Given the description of an element on the screen output the (x, y) to click on. 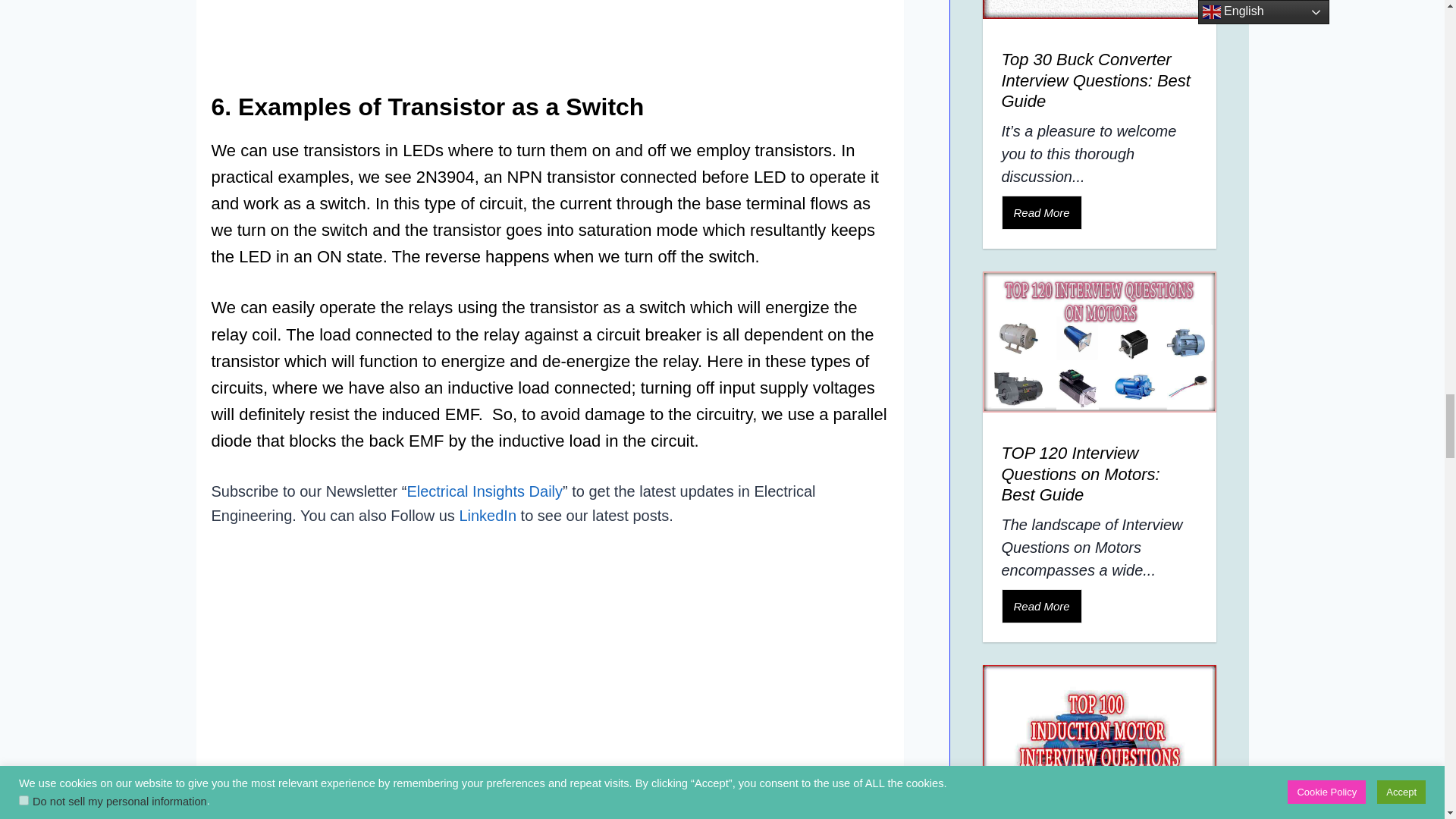
Copy Link (442, 814)
Twitter (339, 814)
LinkedIn (236, 814)
Facebook (288, 814)
Pinterest (390, 814)
